Given the description of an element on the screen output the (x, y) to click on. 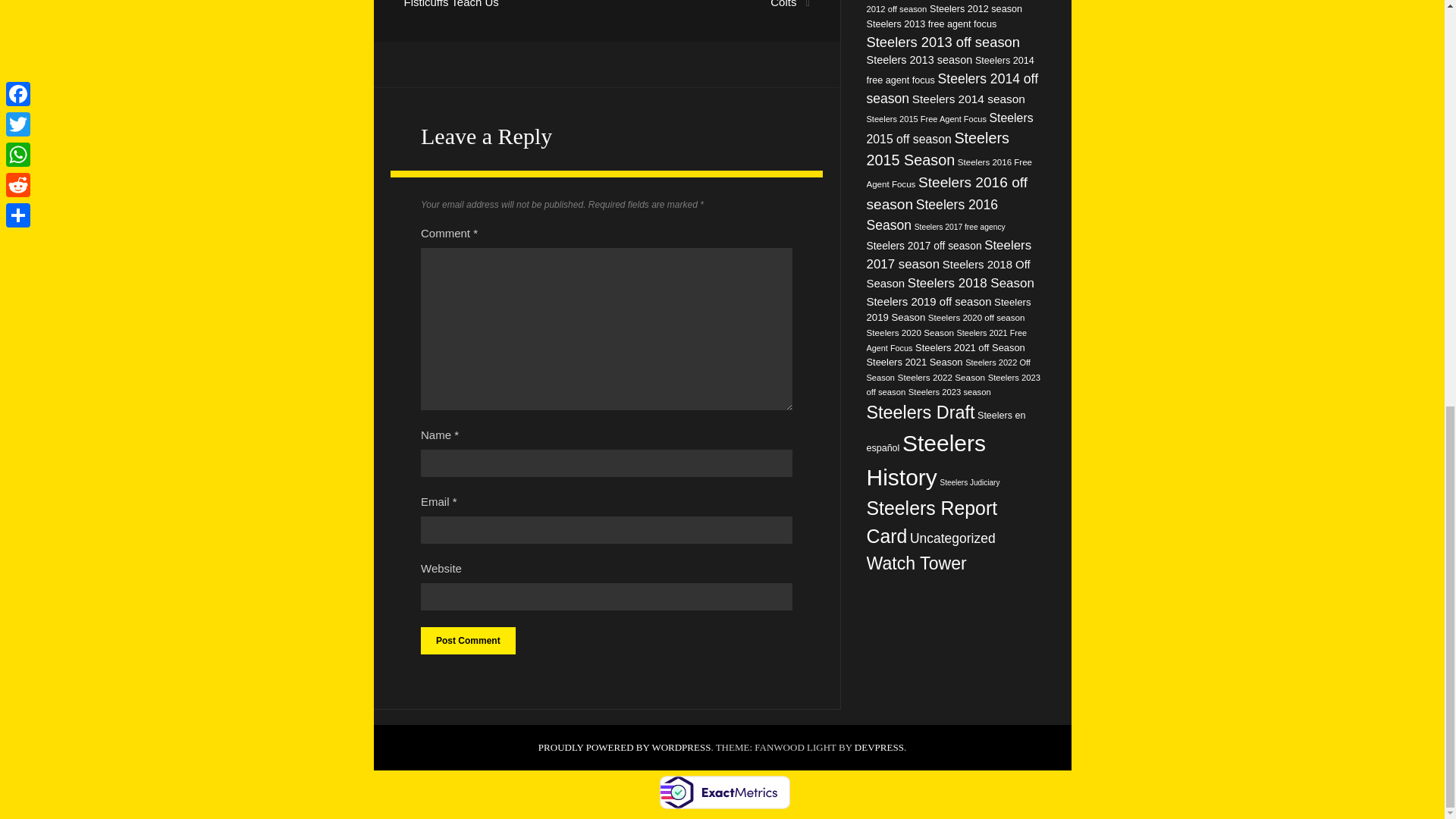
Post Comment (467, 640)
Post Comment (467, 640)
Steelers Eek Out Preseason Win vs. Colts (717, 4)
